Given the description of an element on the screen output the (x, y) to click on. 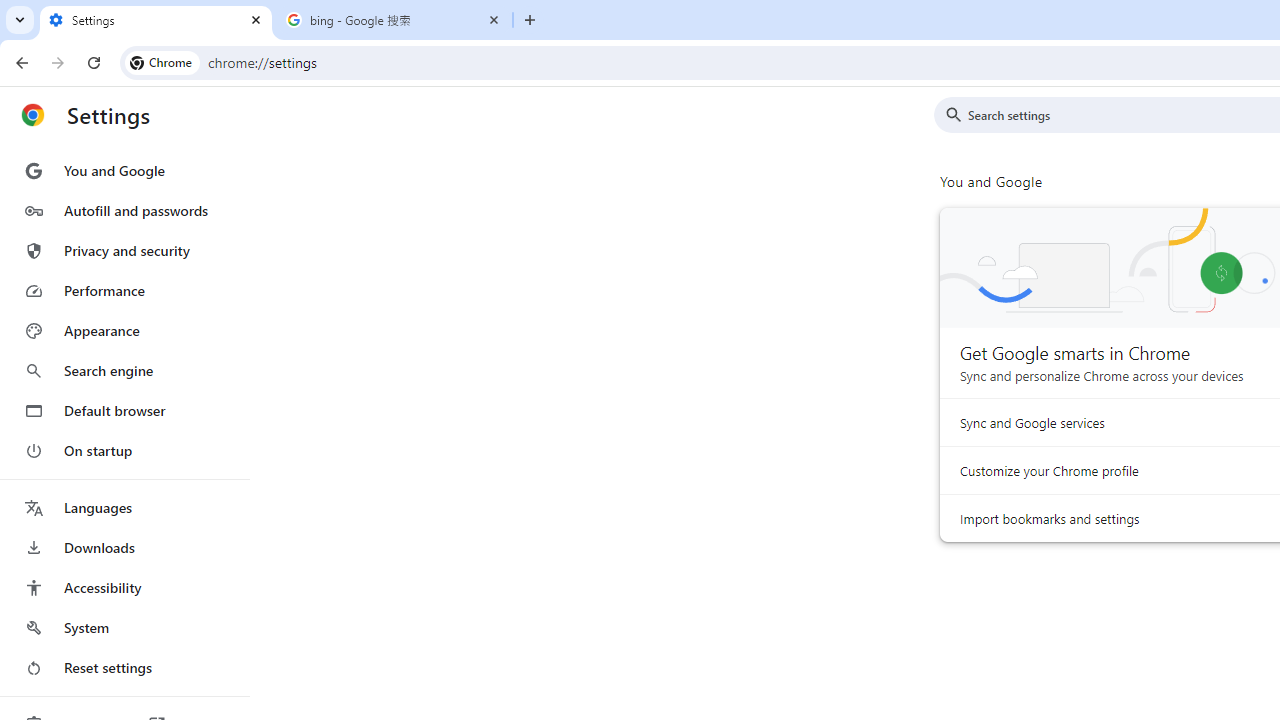
Settings (156, 20)
